Given the description of an element on the screen output the (x, y) to click on. 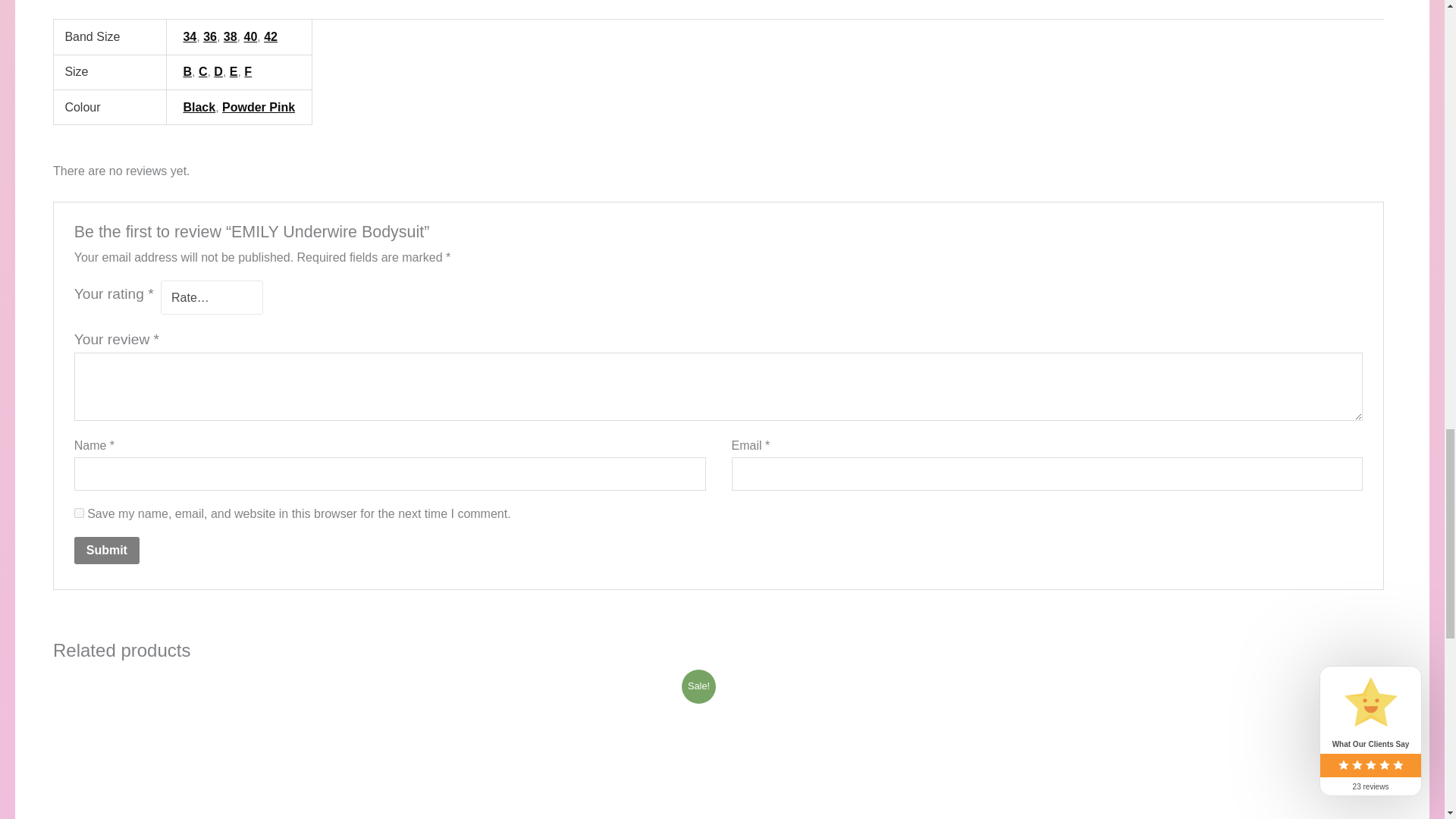
Submit (106, 550)
yes (79, 512)
